Given the description of an element on the screen output the (x, y) to click on. 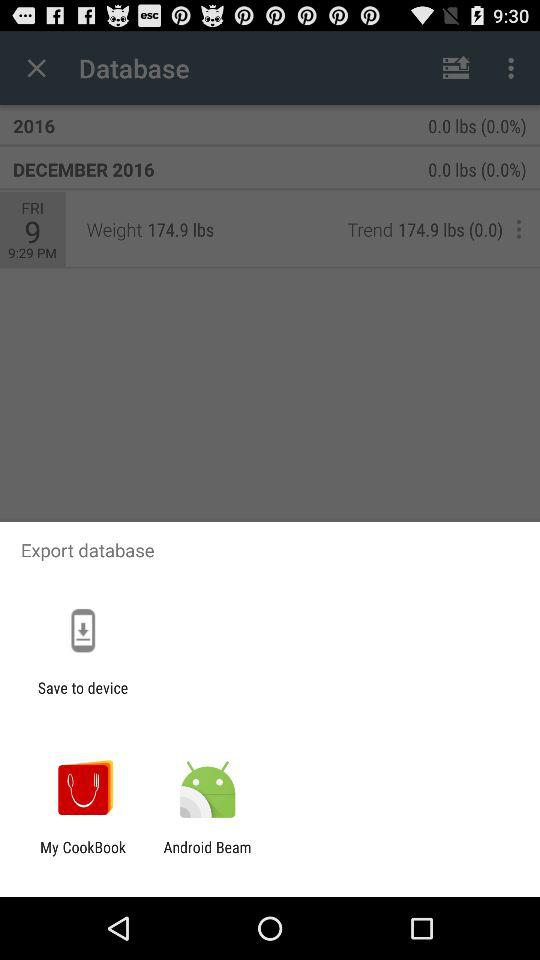
launch item to the left of the android beam (83, 856)
